Given the description of an element on the screen output the (x, y) to click on. 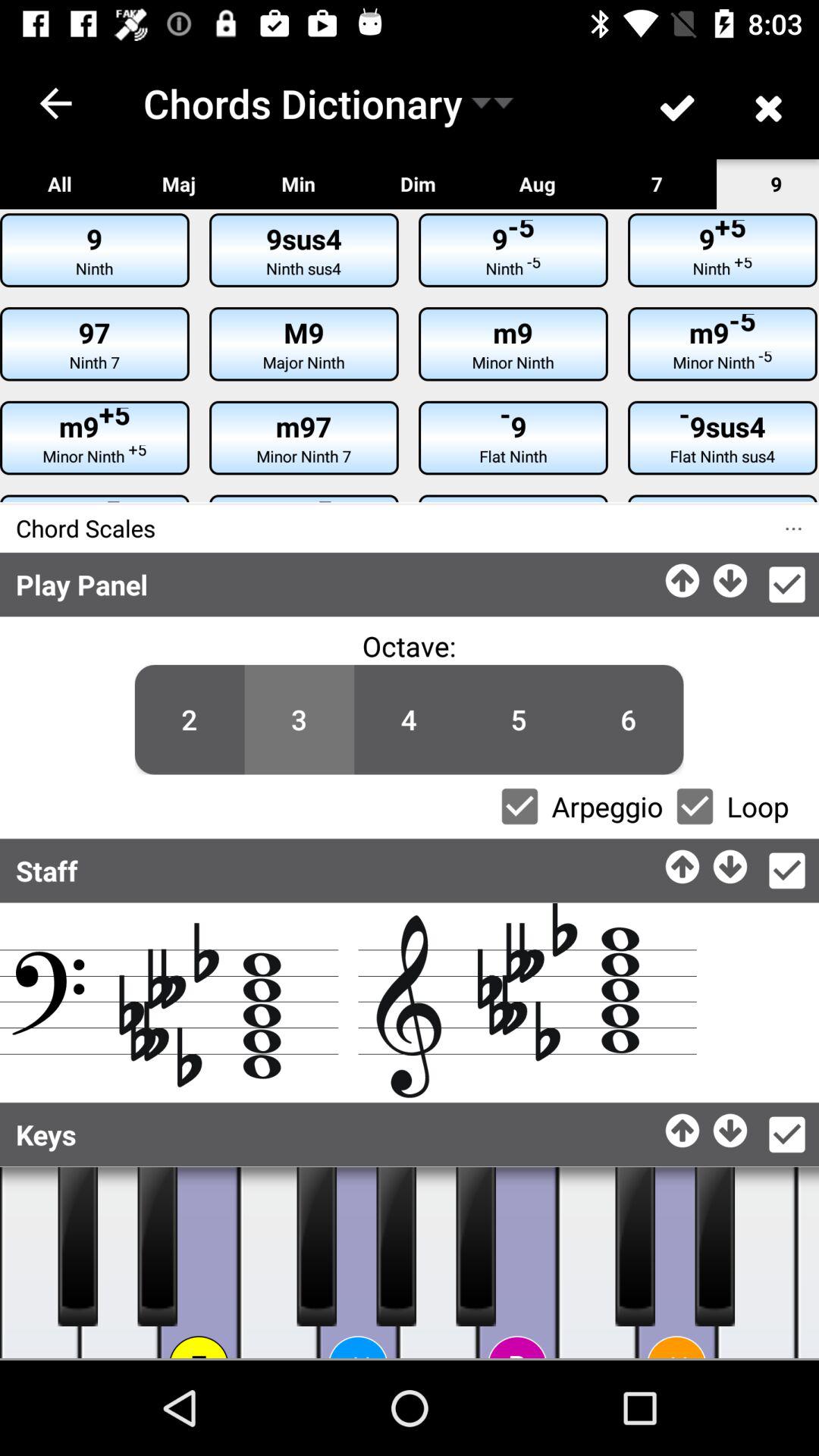
click to the upload (683, 1126)
